Given the description of an element on the screen output the (x, y) to click on. 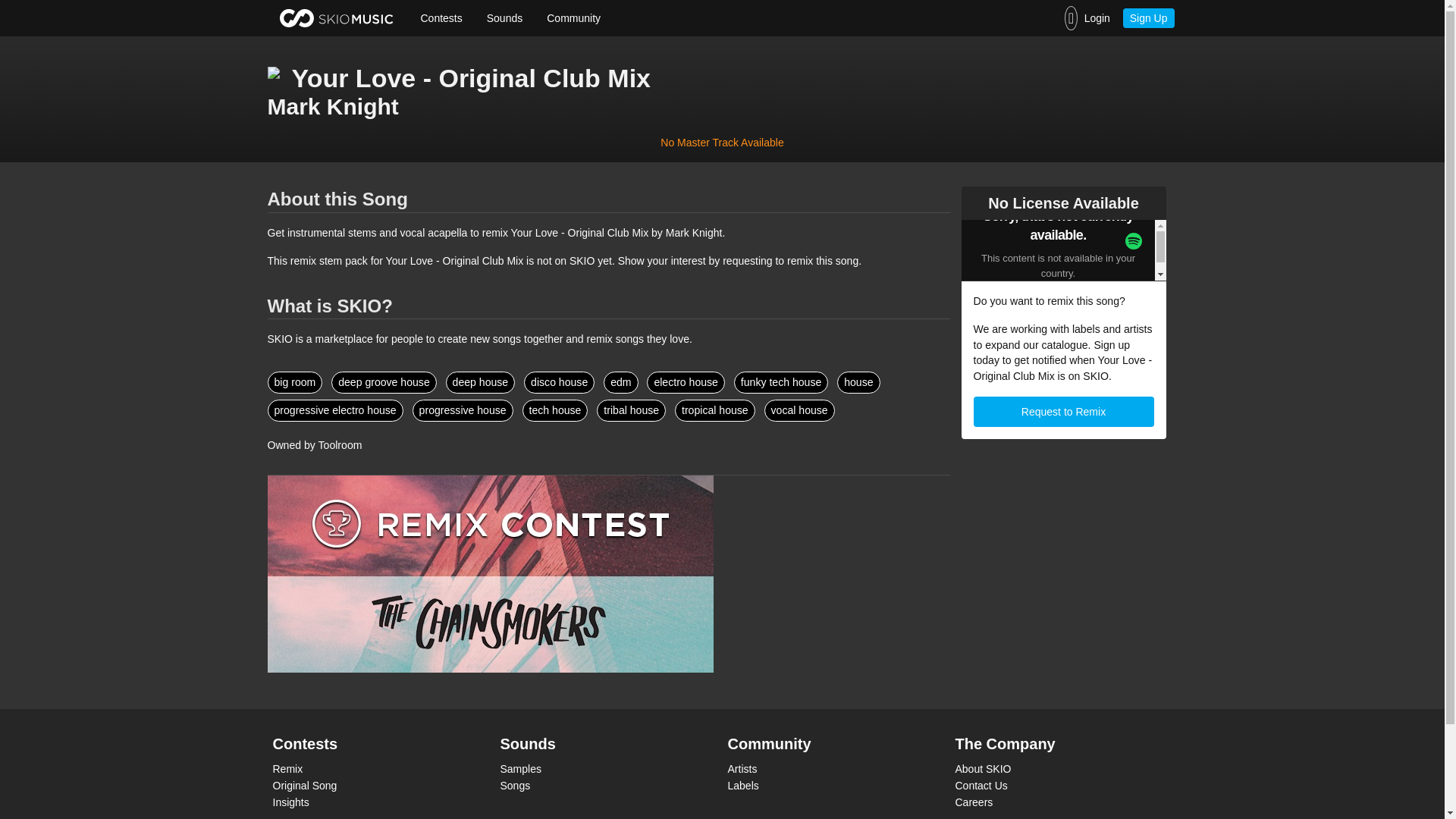
deep groove house (383, 382)
disco house (559, 382)
tech house (555, 410)
progressive house (462, 410)
Login (1086, 17)
Contests (440, 18)
Community (573, 18)
progressive electro house (334, 410)
funky tech house (780, 382)
deep house (480, 382)
tropical house (715, 410)
Request to Remix (1064, 411)
house (858, 382)
Sign Up (1148, 17)
vocal house (799, 410)
